Given the description of an element on the screen output the (x, y) to click on. 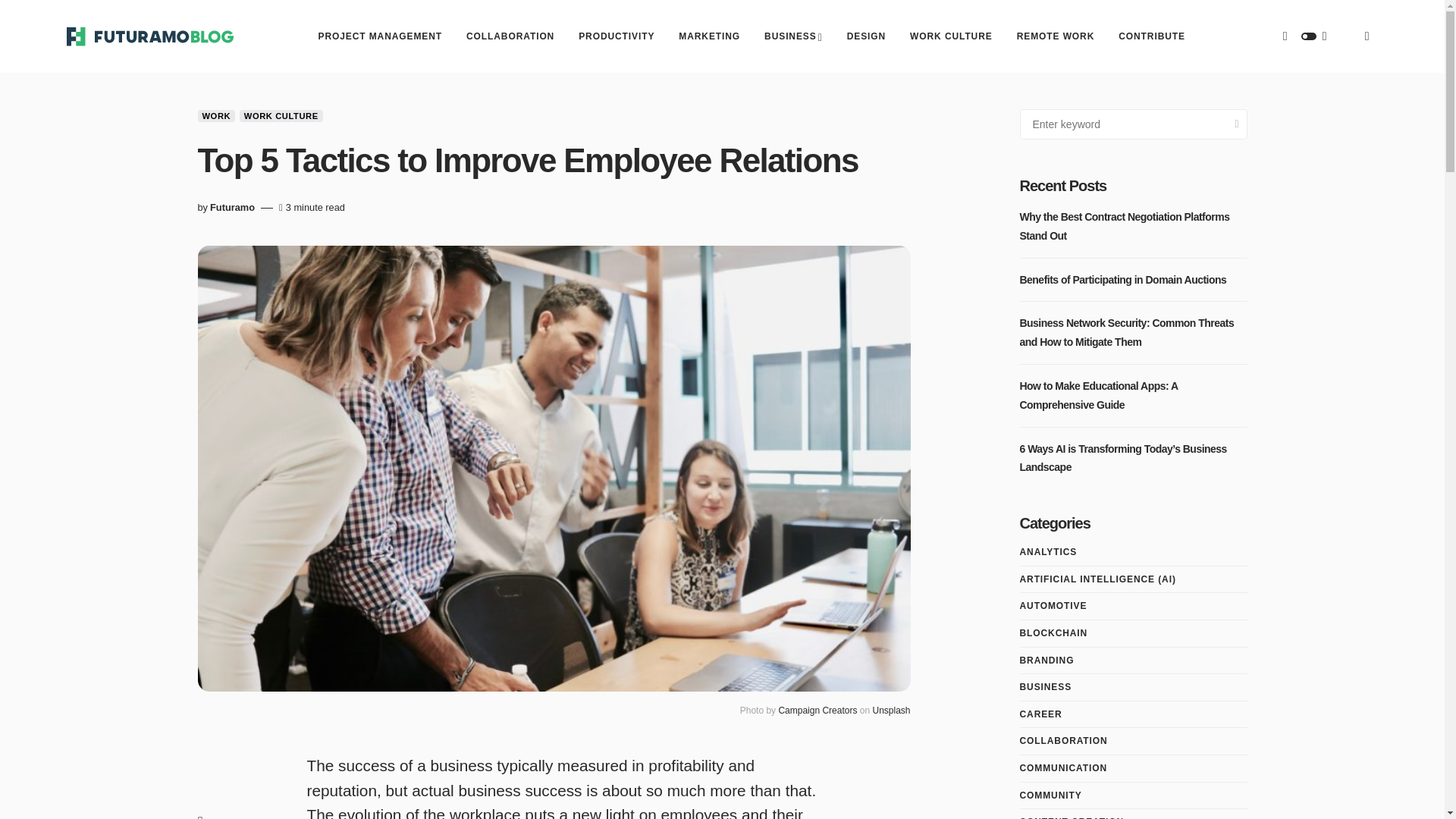
PROJECT MANAGEMENT (380, 36)
View all posts by Futuramo (231, 207)
COLLABORATION (509, 36)
PRODUCTIVITY (615, 36)
